Given the description of an element on the screen output the (x, y) to click on. 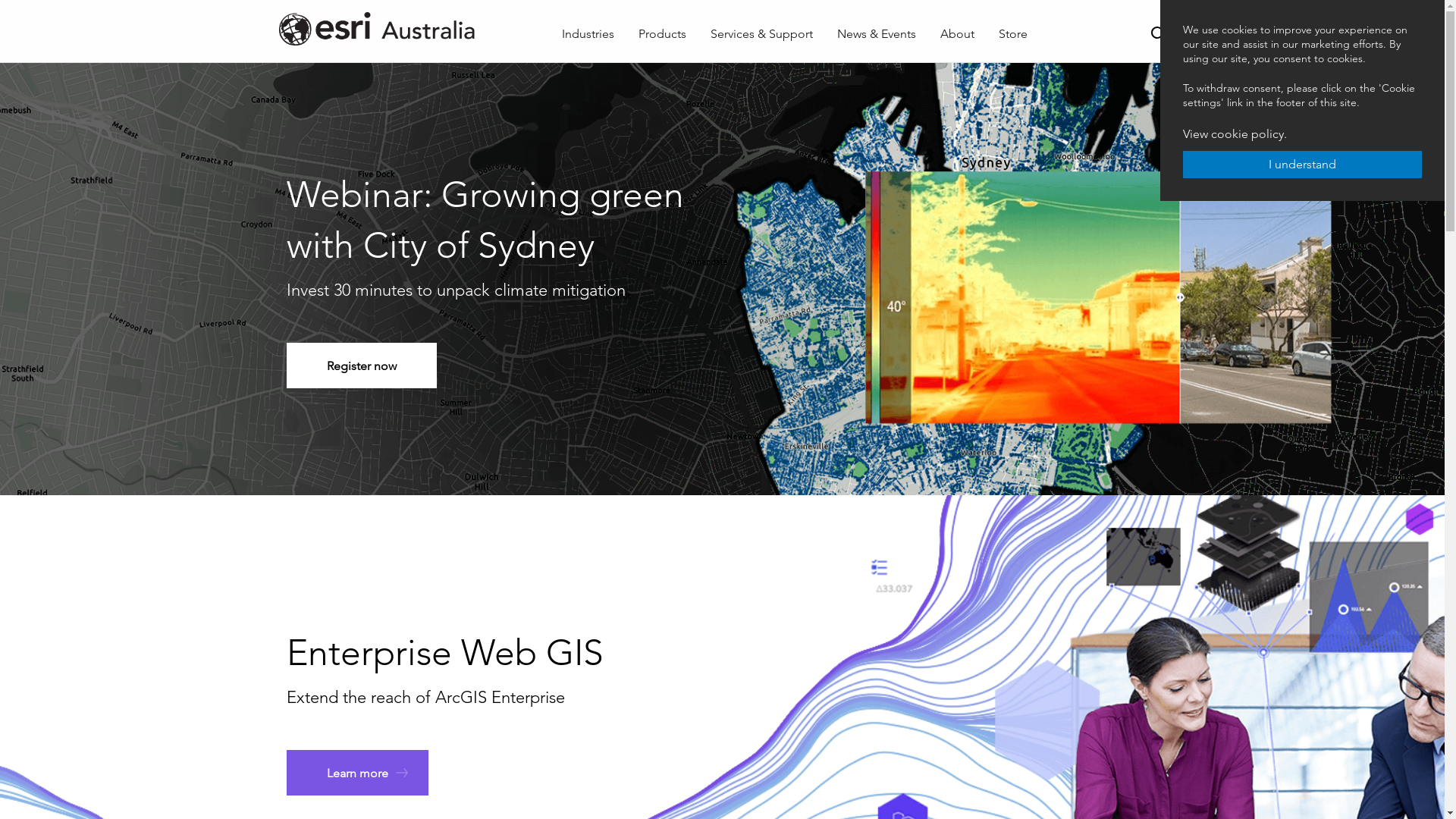
Products Element type: text (662, 33)
I understand Element type: text (1302, 164)
Services & Support Element type: text (761, 33)
Skip to main content Element type: text (0, 0)
Learn more Element type: text (357, 772)
Industries Element type: text (587, 33)
Register now Element type: text (361, 365)
About Element type: text (957, 33)
News & Events Element type: text (876, 33)
Store Element type: text (1012, 33)
Home Element type: hover (403, 28)
View cookie policy. Element type: text (1234, 133)
